Given the description of an element on the screen output the (x, y) to click on. 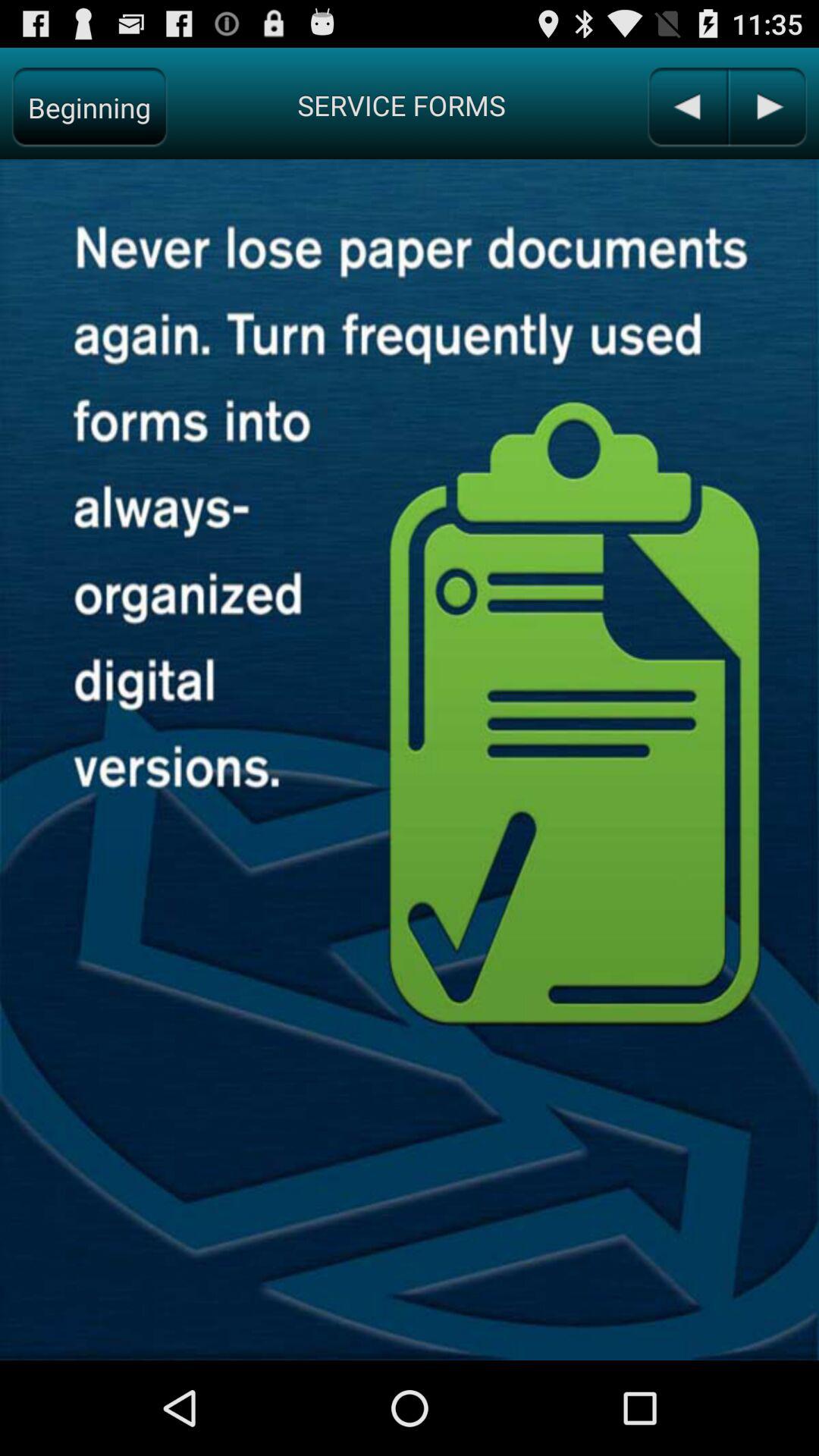
go to previous page (687, 107)
